Given the description of an element on the screen output the (x, y) to click on. 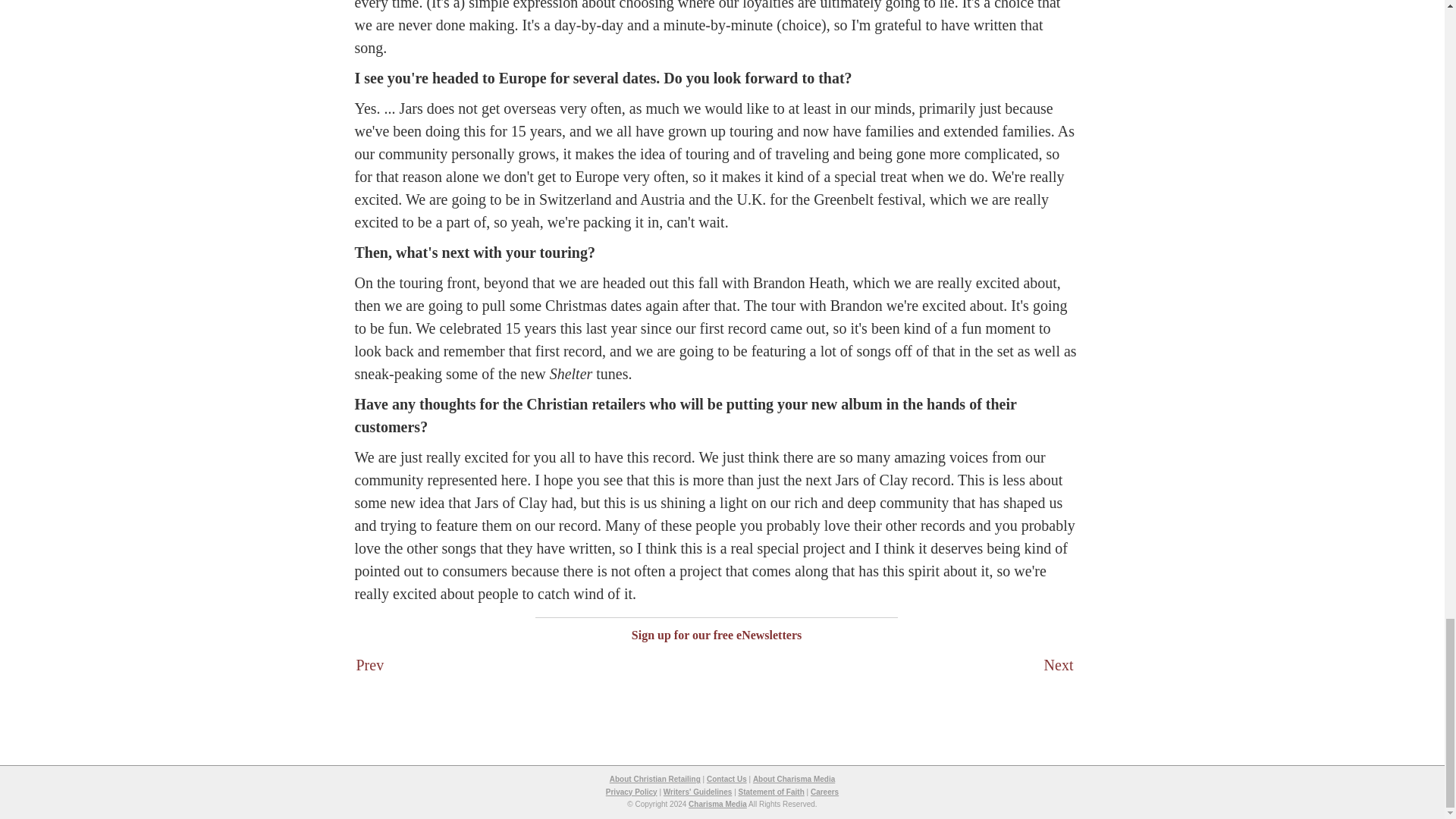
Sign up for our free eNewsletters (716, 634)
Prev (370, 664)
Contact Us (726, 778)
Careers (824, 791)
Statement of Faith (771, 791)
Next (1058, 664)
Charisma Media (717, 804)
About Christian Retailing (655, 778)
About Charisma Media (793, 778)
Come work for us! (824, 791)
